Given the description of an element on the screen output the (x, y) to click on. 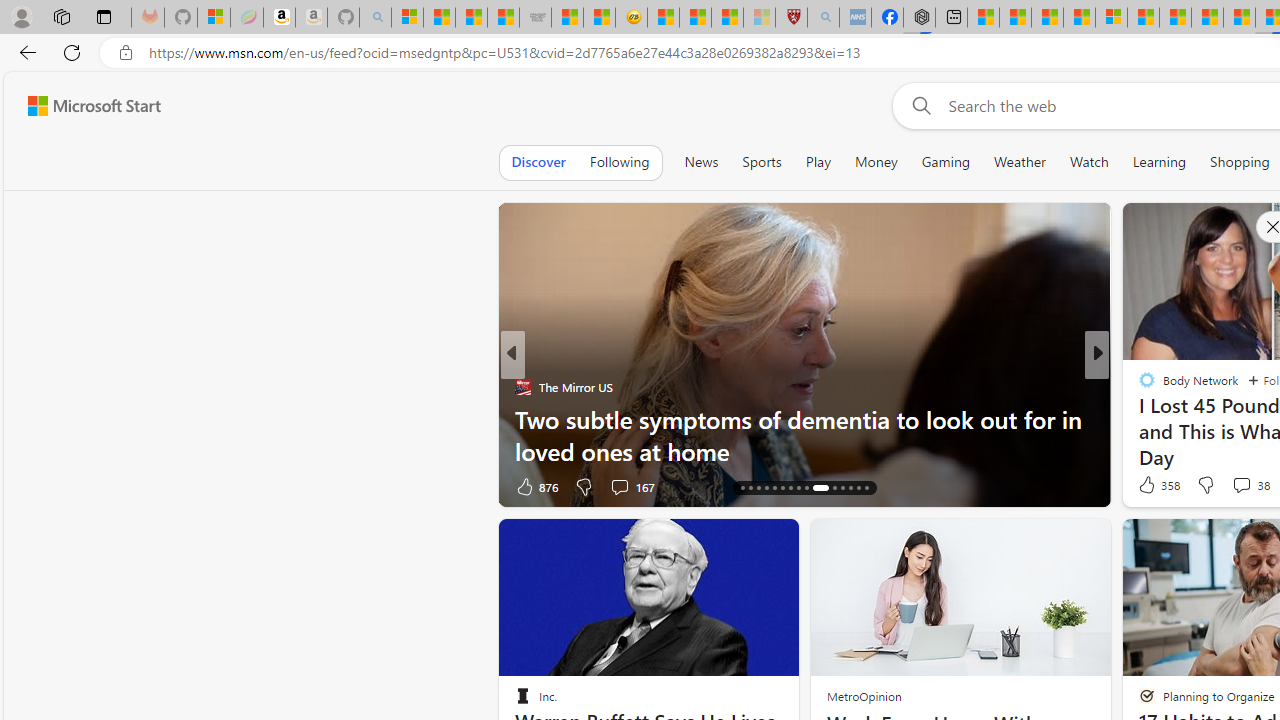
Watch (1089, 161)
View comments 38 Comment (1249, 484)
Hide this story (738, 542)
View comments 34 Comment (619, 485)
AutomationID: tab-18 (757, 487)
View comments 23 Comment (1244, 486)
12 Popular Science Lies that Must be Corrected - Sleeping (758, 17)
Money (875, 161)
14 Common Myths Debunked By Scientific Facts (1206, 17)
AutomationID: tab-25 (816, 487)
AutomationID: tab-29 (857, 487)
Ad Choice (479, 486)
Science - MSN (727, 17)
